Given the description of an element on the screen output the (x, y) to click on. 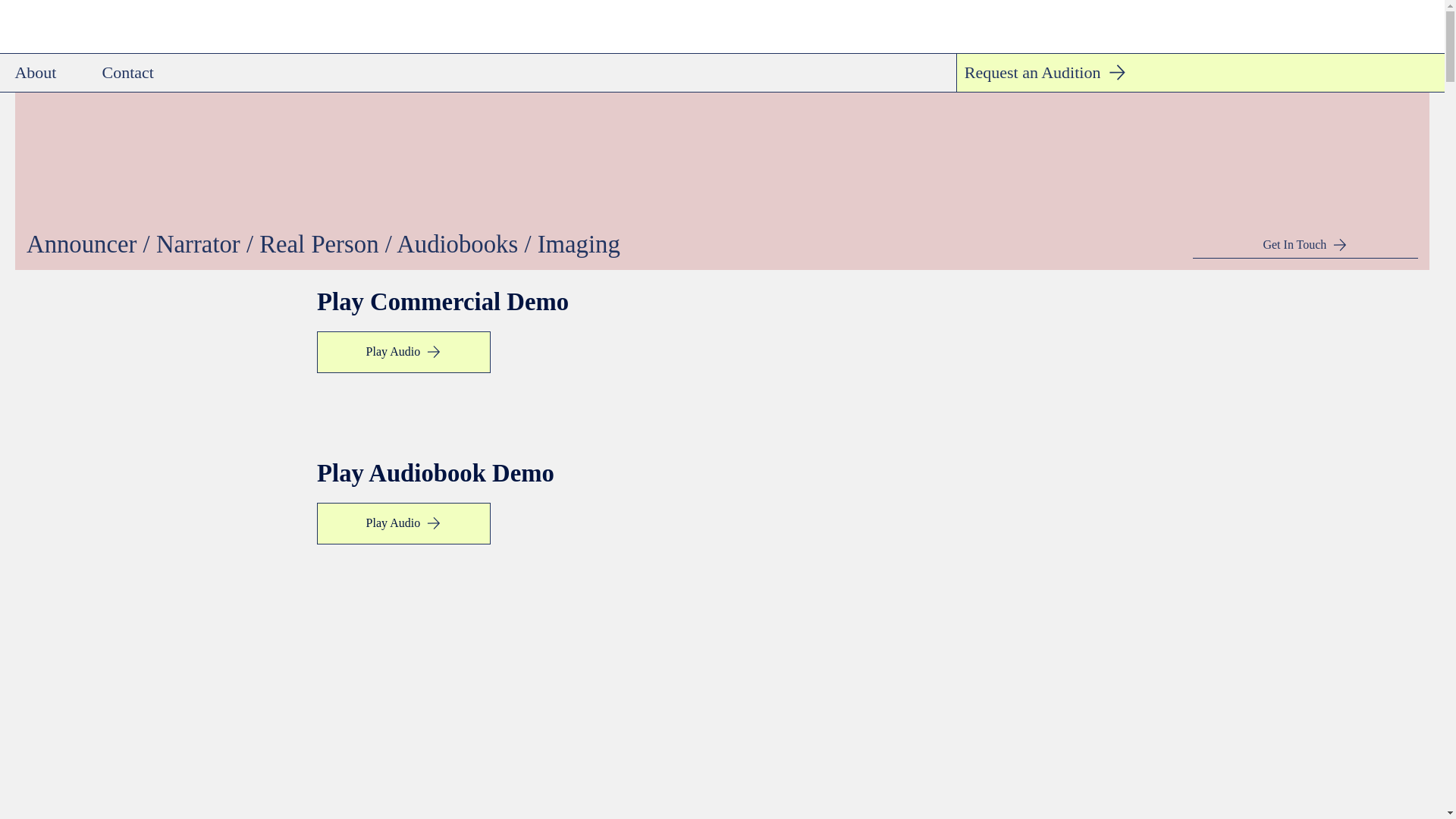
Contact (127, 72)
Get In Touch (1305, 244)
Play Audio (403, 523)
Play Audio (403, 352)
About (34, 72)
